Given the description of an element on the screen output the (x, y) to click on. 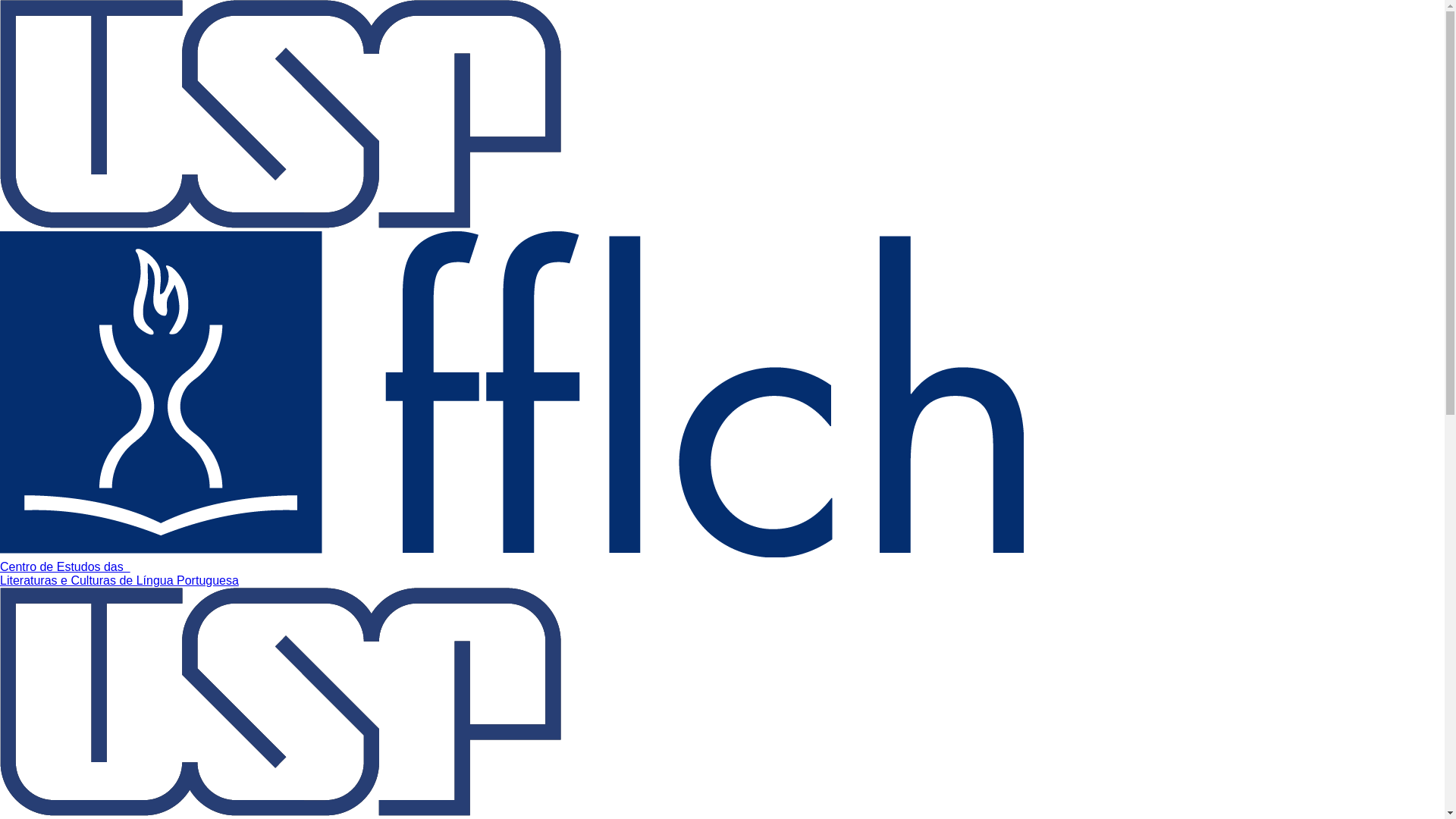
Centro de Estudos das   Element type: text (65, 566)
